Given the description of an element on the screen output the (x, y) to click on. 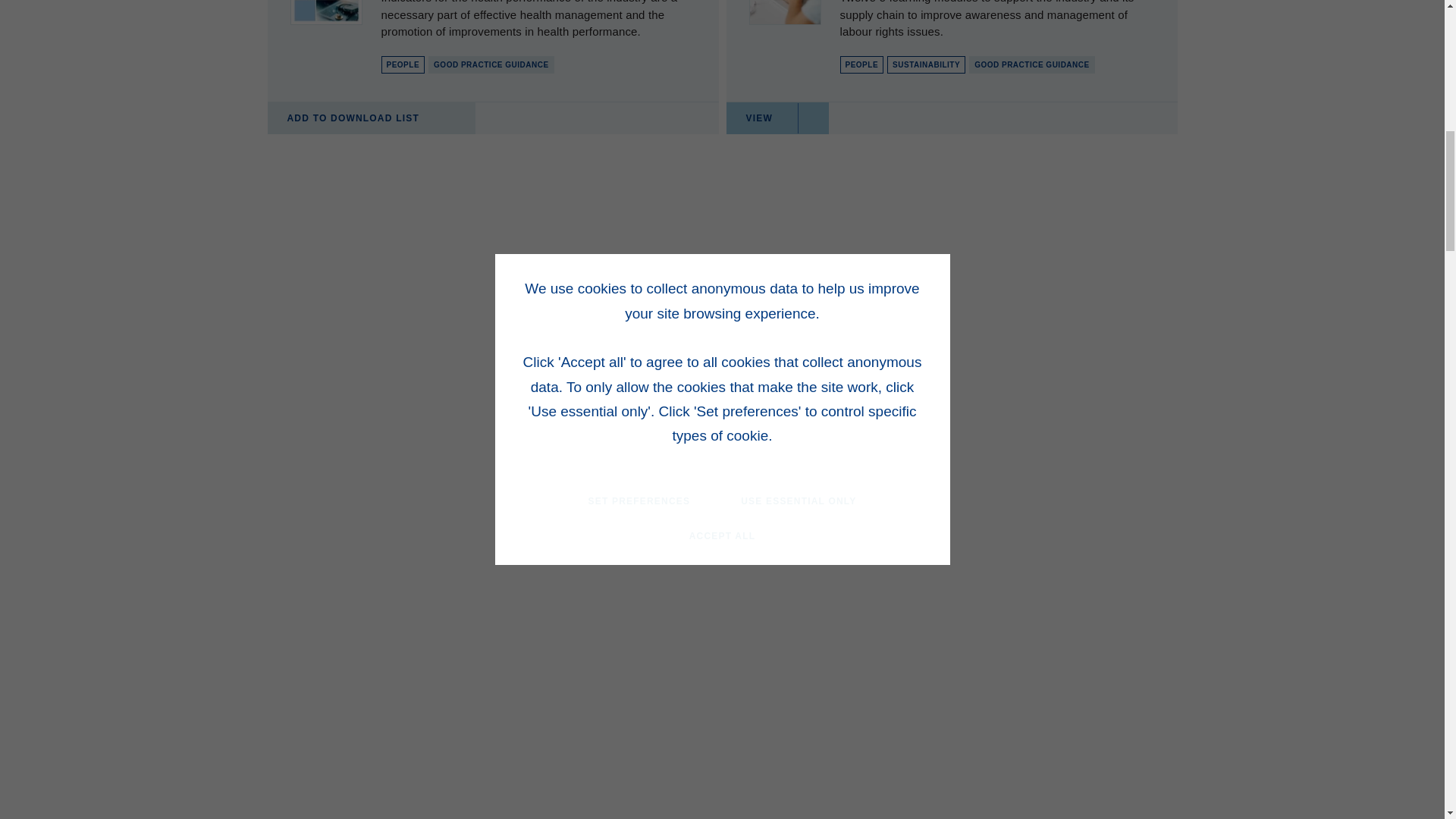
12817 (437, 120)
